Given the description of an element on the screen output the (x, y) to click on. 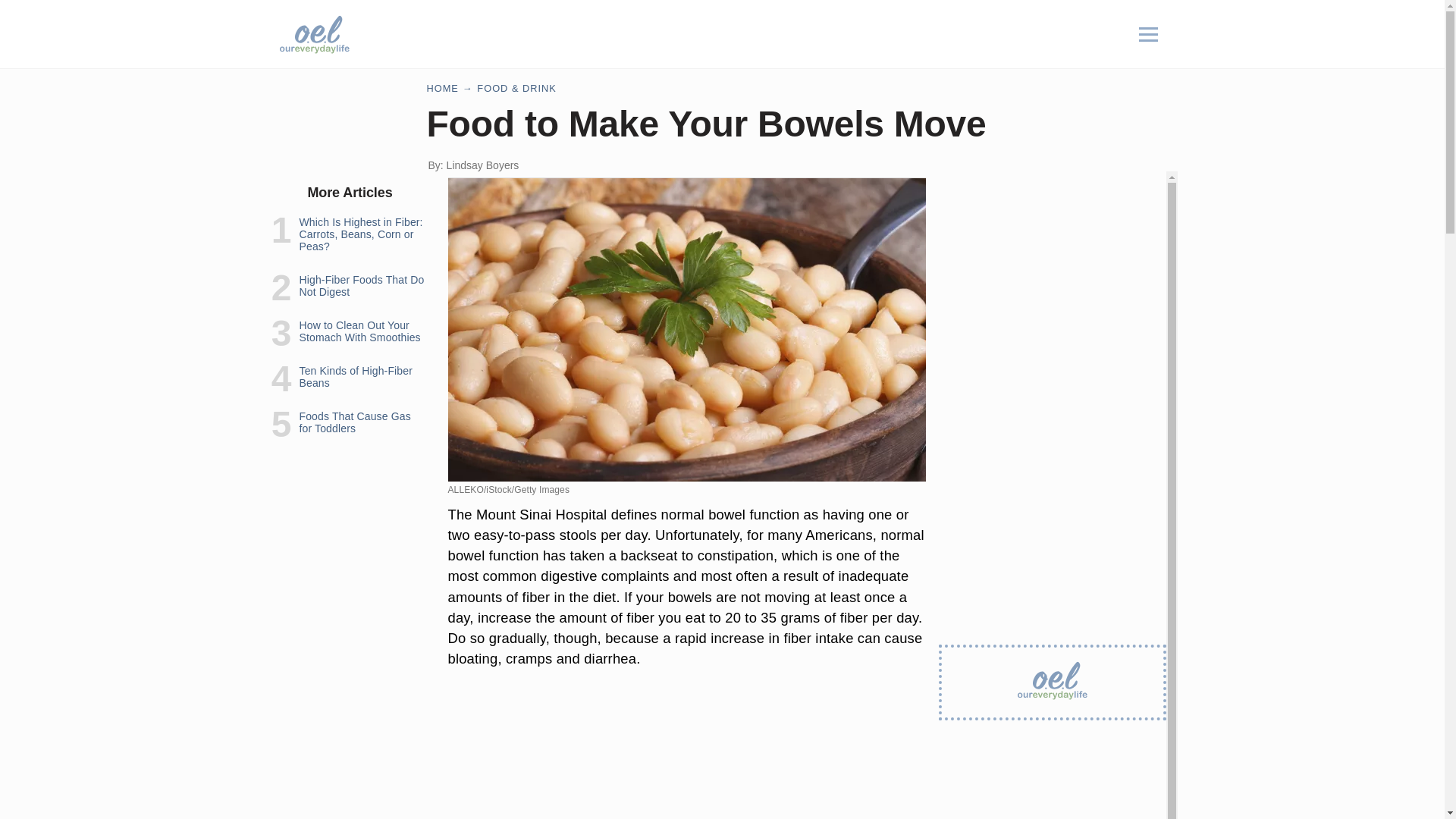
How to Clean Out Your Stomach With Smoothies (359, 331)
Ten Kinds of High-Fiber Beans (355, 376)
Which Is Highest in Fiber: Carrots, Beans, Corn or Peas? (360, 234)
High-Fiber Foods That Do Not Digest (360, 285)
HOME (442, 88)
Foods That Cause Gas for Toddlers (354, 422)
Advertisement (686, 768)
